Given the description of an element on the screen output the (x, y) to click on. 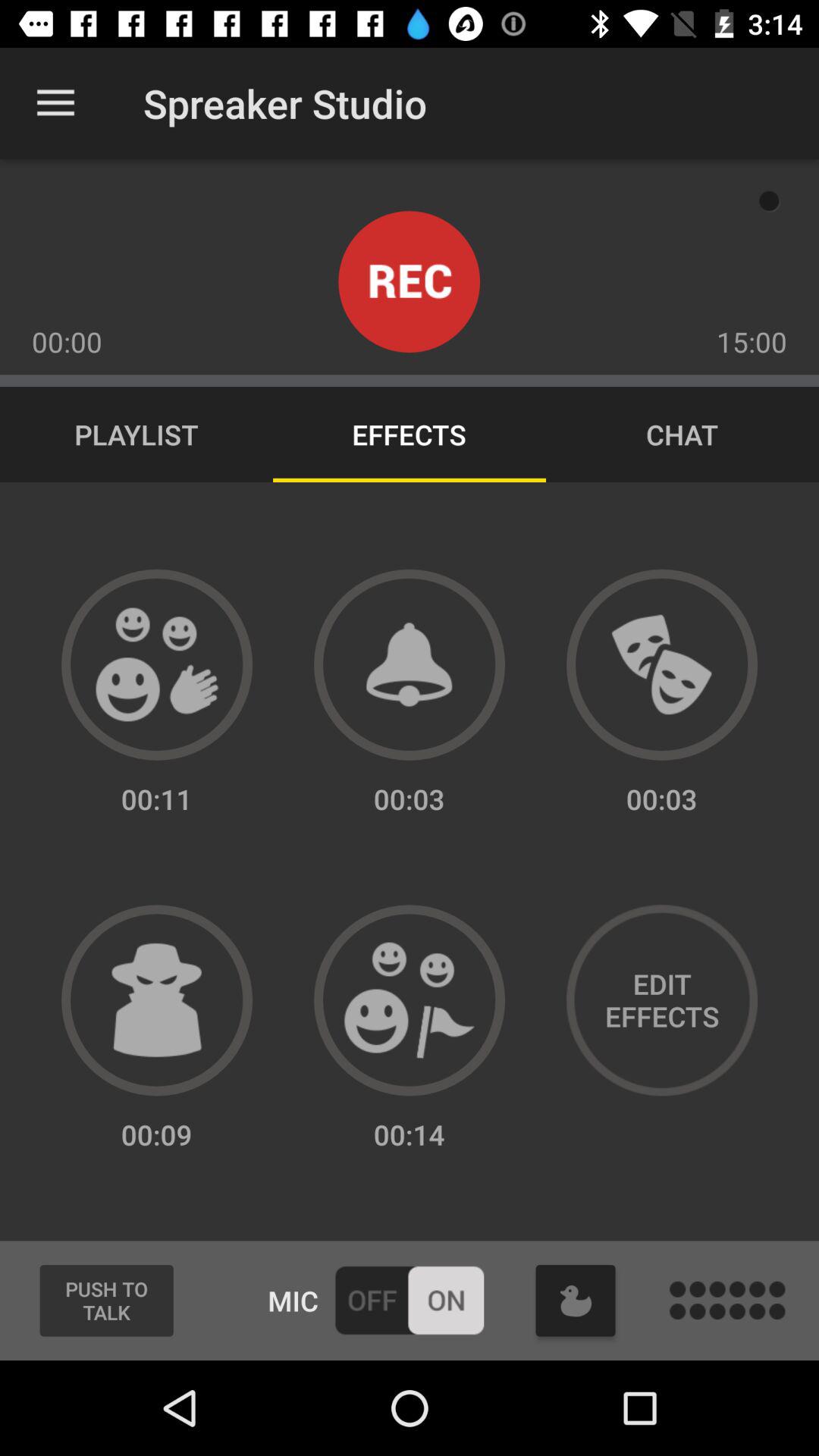
open effect (409, 999)
